Given the description of an element on the screen output the (x, y) to click on. 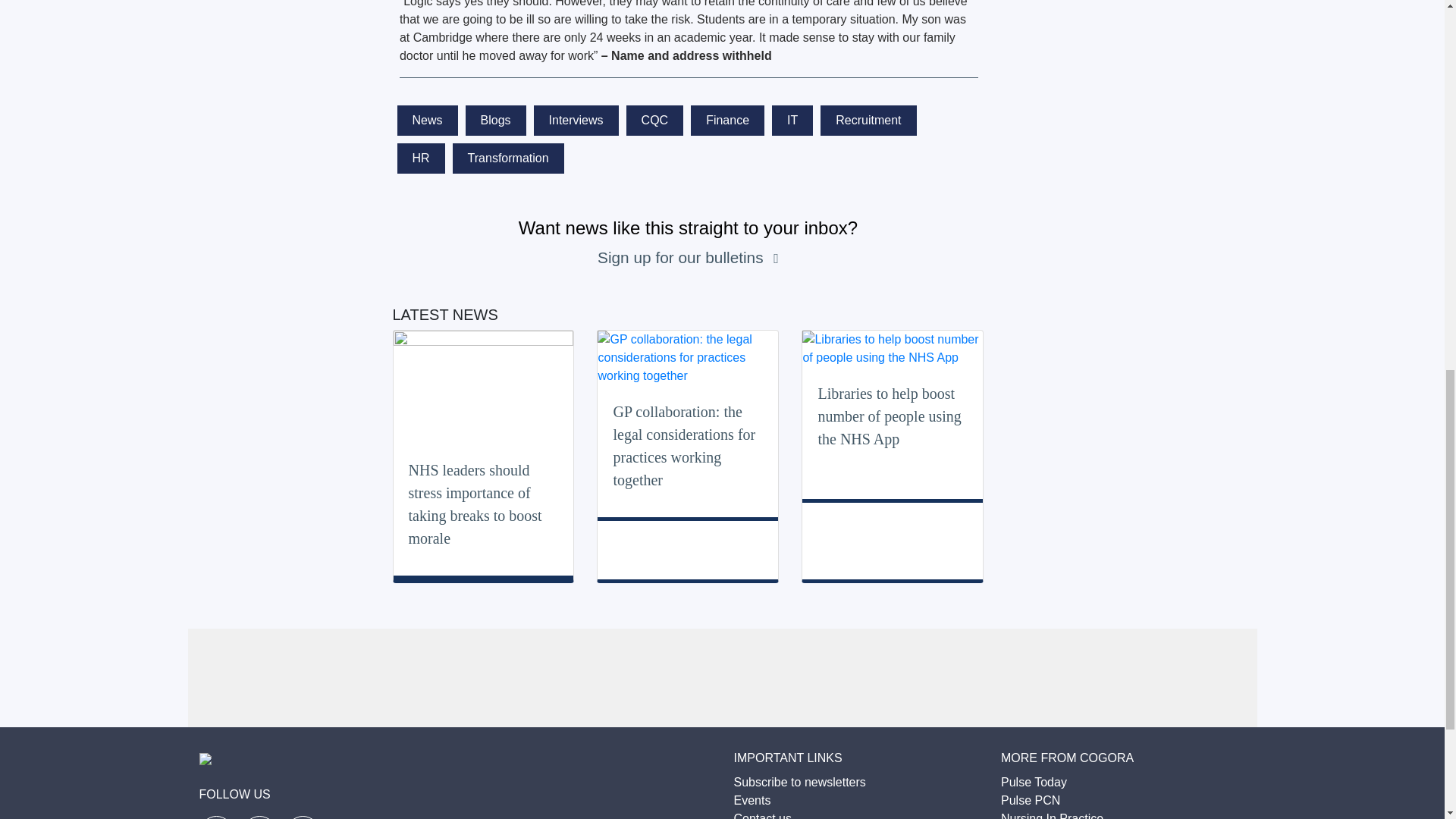
Pulse Today (1034, 781)
Events (752, 799)
Nursing In Practice (1052, 815)
Subscribe to newsletters (799, 781)
Sign up for our bulletins (681, 257)
Contact us (762, 815)
Pulse PCN (1030, 799)
